Given the description of an element on the screen output the (x, y) to click on. 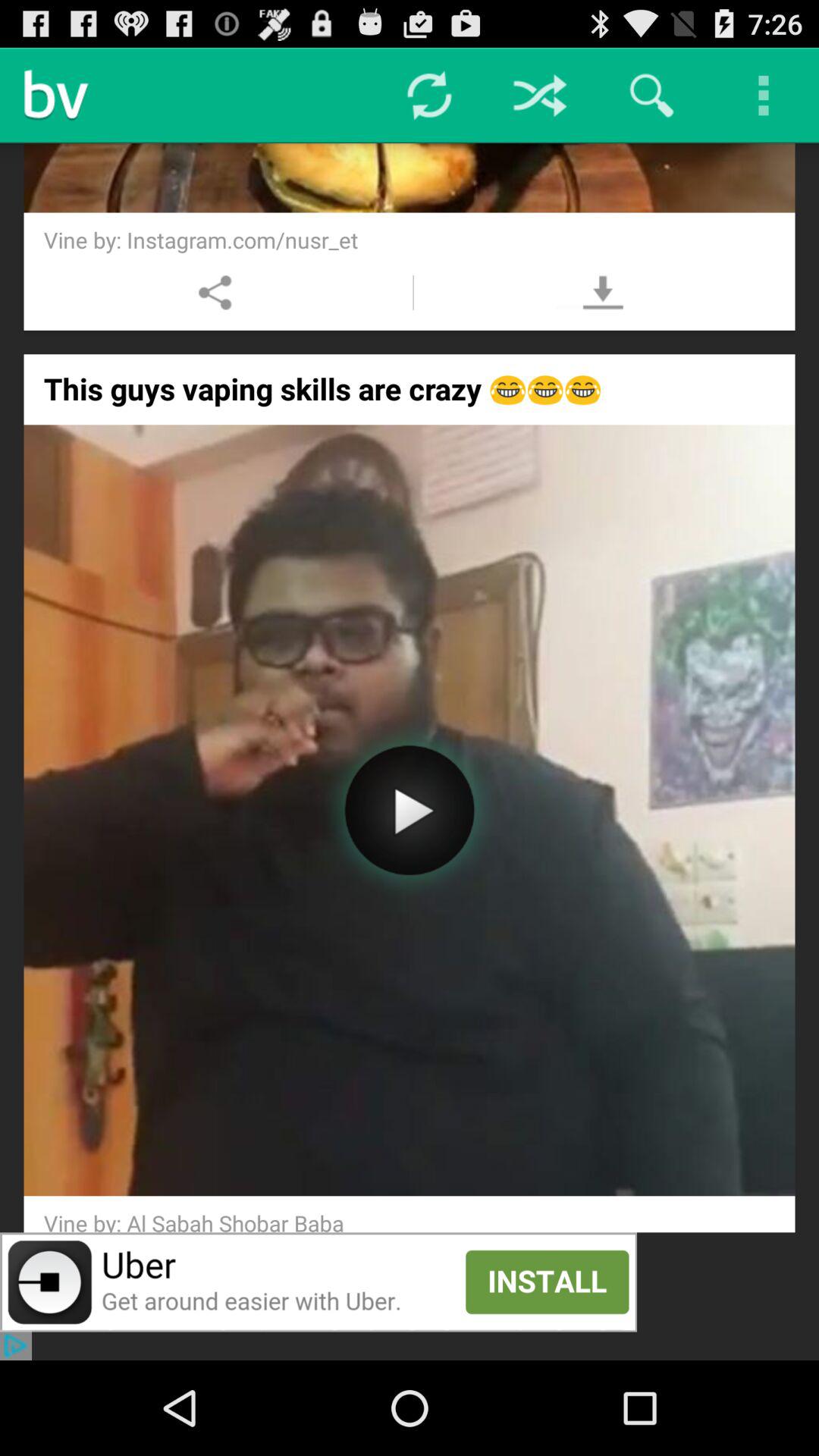
download (602, 292)
